Given the description of an element on the screen output the (x, y) to click on. 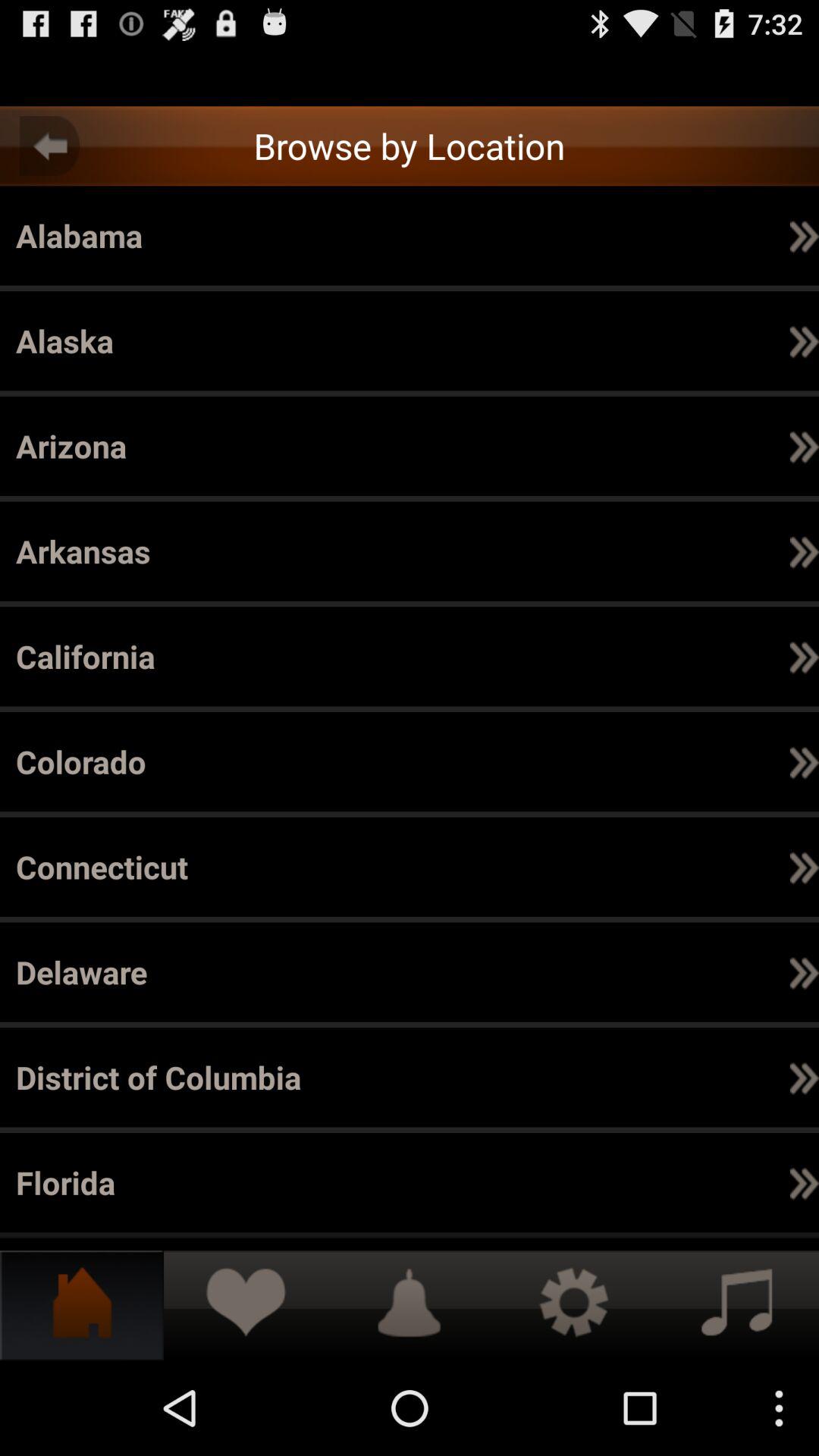
scroll to app (658, 235)
